Given the description of an element on the screen output the (x, y) to click on. 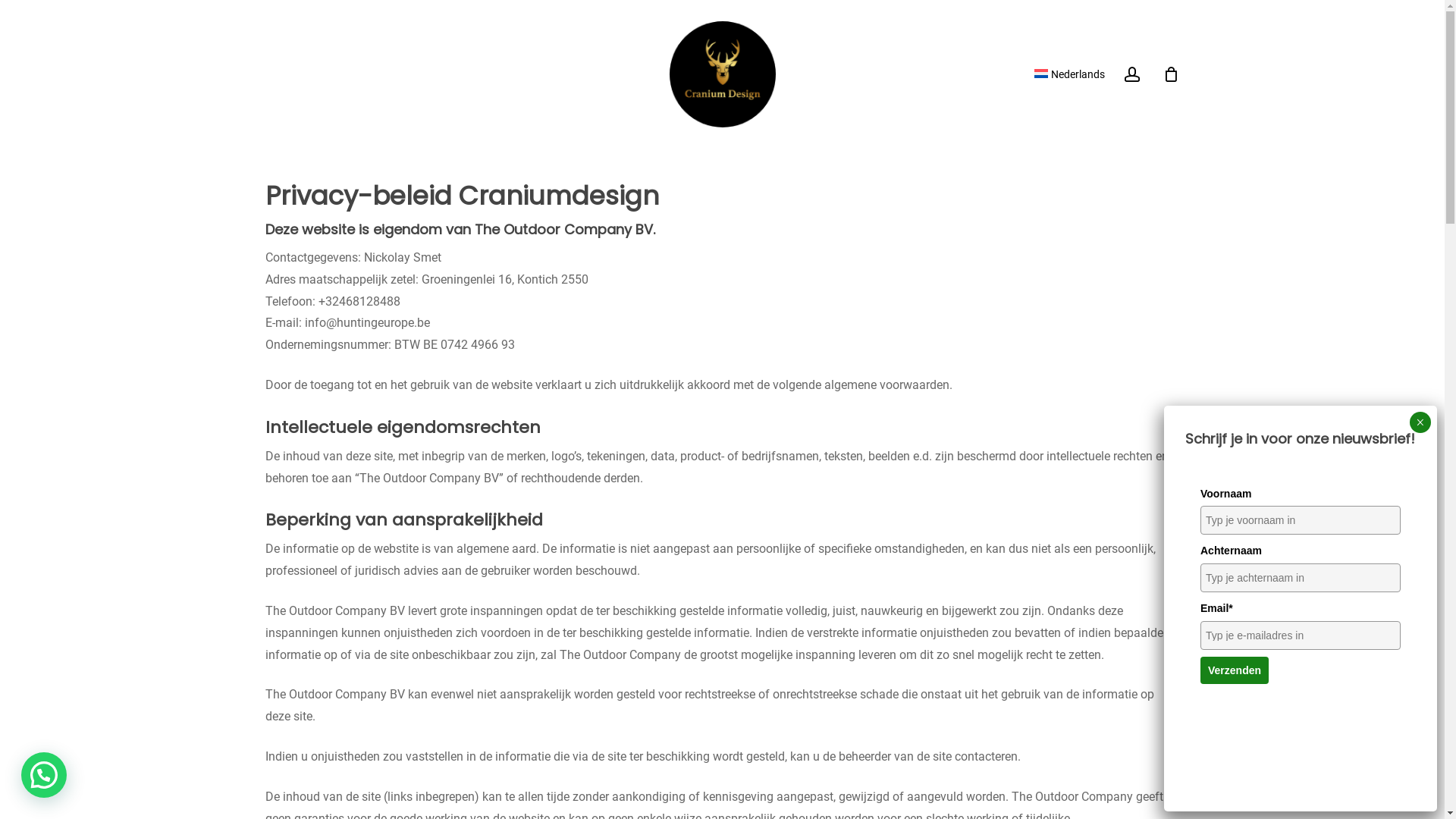
Verzenden Element type: text (1234, 670)
account Element type: text (1132, 74)
Nederlands Element type: text (1069, 73)
